Given the description of an element on the screen output the (x, y) to click on. 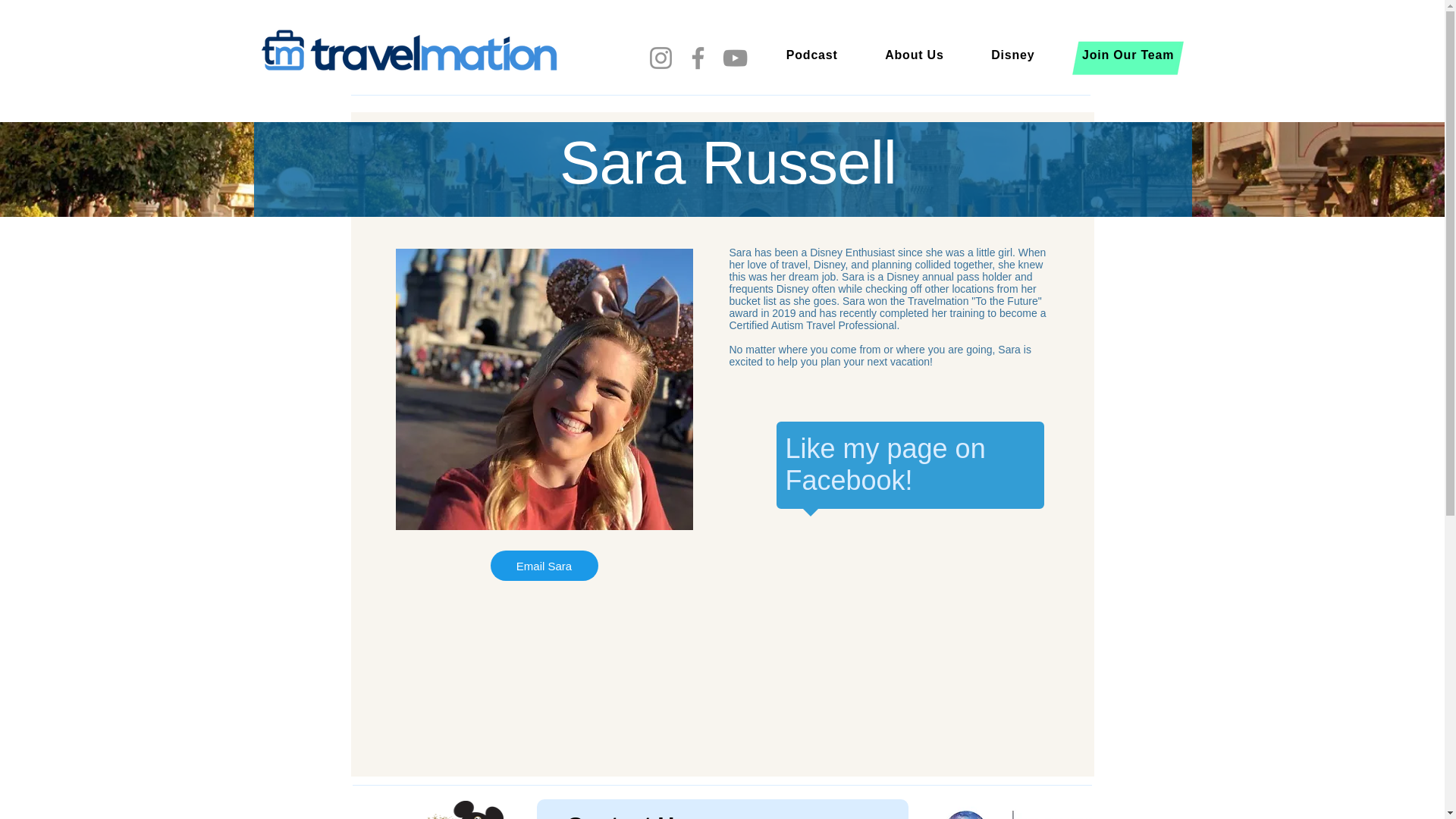
Join Our Team (1127, 54)
About Us (914, 54)
Podcast (812, 54)
Email Sara (542, 565)
